Given the description of an element on the screen output the (x, y) to click on. 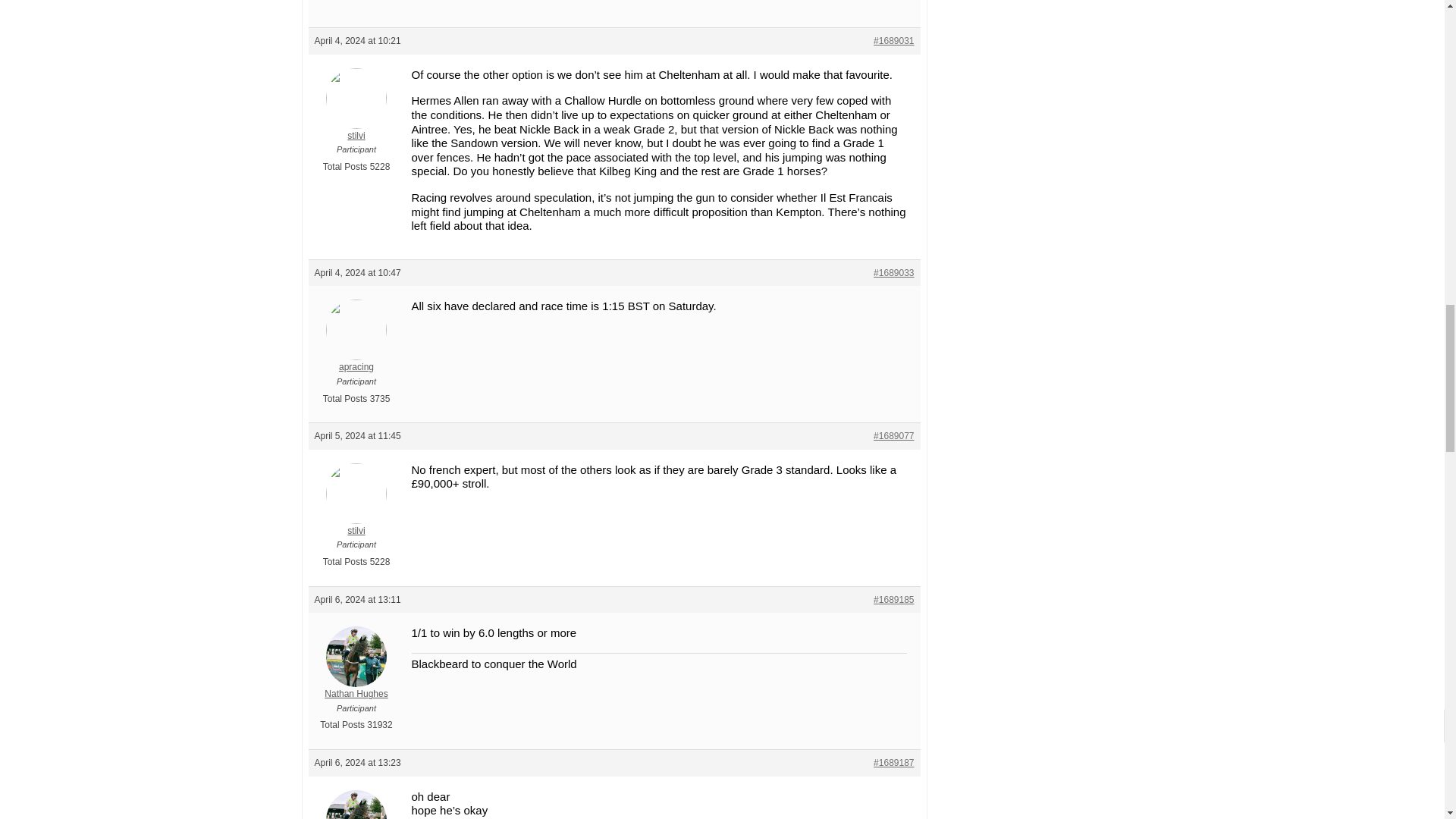
View Nathan Hughes's profile (355, 814)
View apracing's profile (355, 347)
View stilvi's profile (355, 510)
View Nathan Hughes's profile (355, 673)
View stilvi's profile (355, 114)
